Given the description of an element on the screen output the (x, y) to click on. 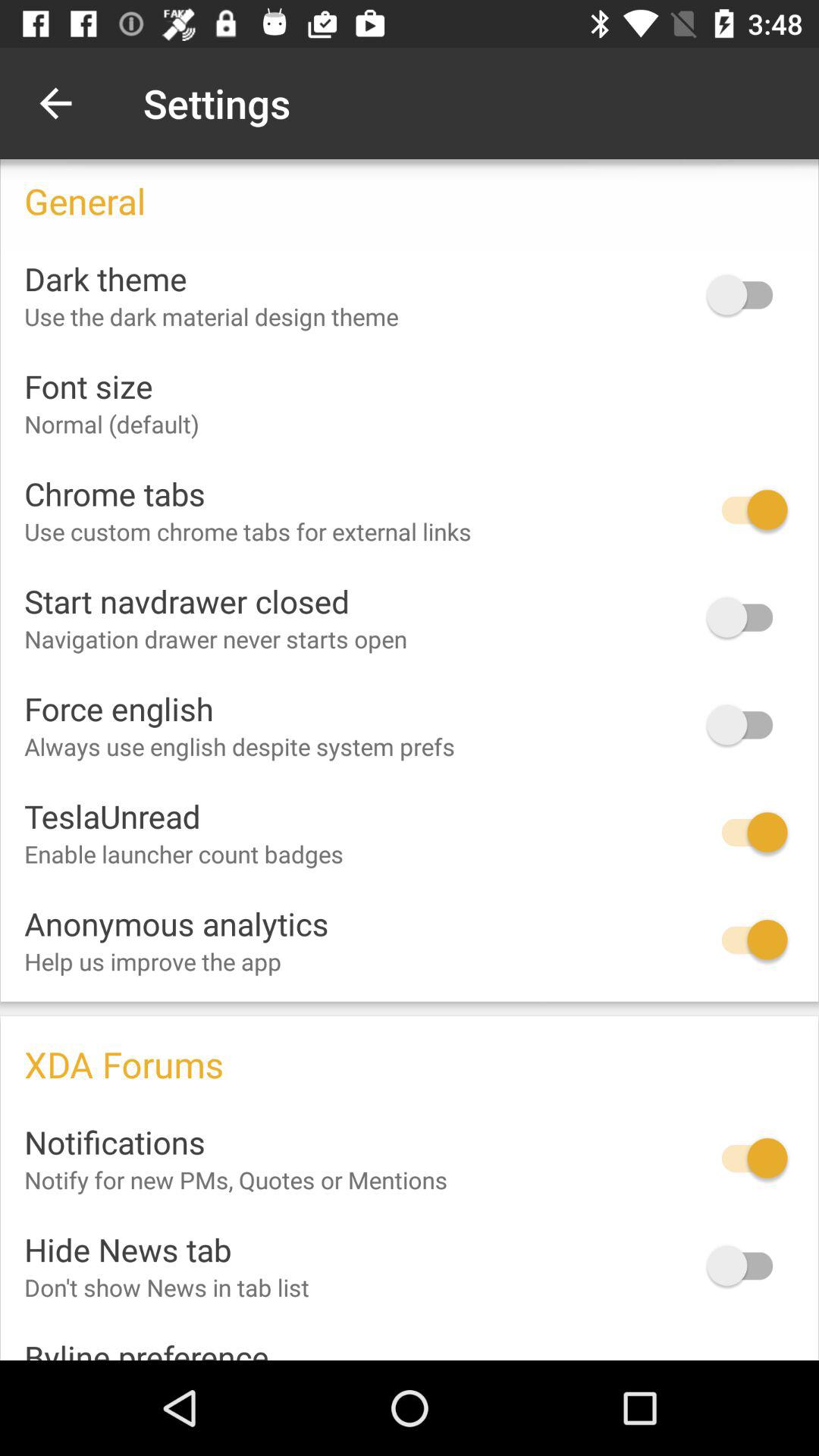
toggle dark theme (747, 294)
